Given the description of an element on the screen output the (x, y) to click on. 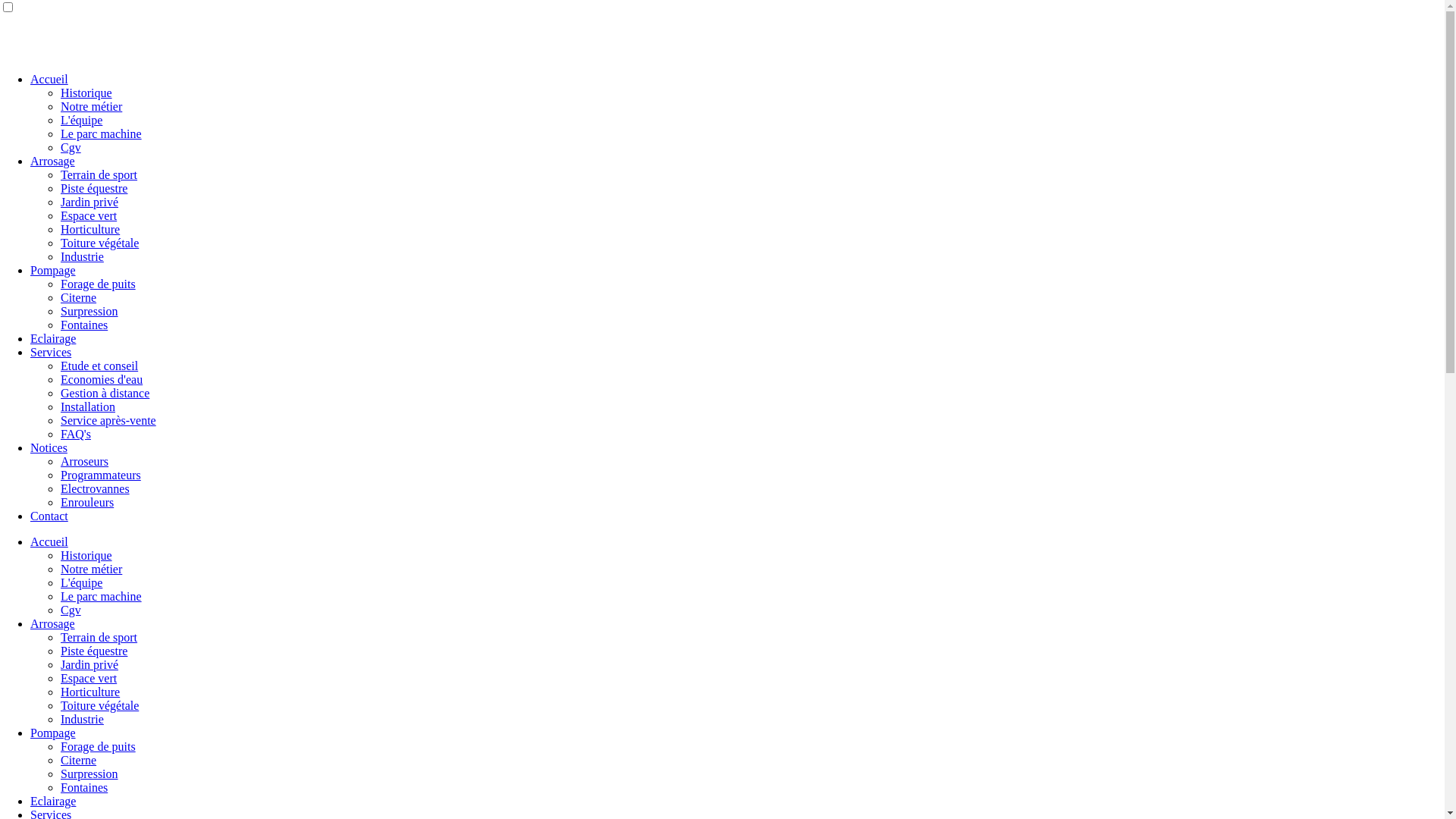
Arrosage Element type: text (52, 623)
Industrie Element type: text (81, 256)
Etude et conseil Element type: text (99, 365)
Eclairage Element type: text (52, 800)
Eclairage Element type: text (52, 338)
Horticulture Element type: text (89, 228)
Industrie Element type: text (81, 718)
Terrain de sport Element type: text (98, 636)
Arrosage Element type: text (52, 160)
Fontaines Element type: text (83, 787)
Services Element type: text (50, 351)
Installation Element type: text (87, 406)
Historique Element type: text (86, 92)
Le parc machine Element type: text (100, 133)
Le parc machine Element type: text (100, 595)
Surpression Element type: text (89, 310)
Programmateurs Element type: text (100, 474)
Historique Element type: text (86, 555)
Fontaines Element type: text (83, 324)
Economies d'eau Element type: text (101, 379)
Cgv Element type: text (70, 609)
Terrain de sport Element type: text (98, 174)
Horticulture Element type: text (89, 691)
Notices Element type: text (48, 447)
Pompage Element type: text (52, 269)
Citerne Element type: text (78, 759)
Contact Element type: text (49, 515)
Forage de puits Element type: text (97, 746)
Citerne Element type: text (78, 297)
Forage de puits Element type: text (97, 283)
Espace vert Element type: text (88, 215)
Espace vert Element type: text (88, 677)
Cgv Element type: text (70, 147)
Electrovannes Element type: text (94, 488)
FAQ's Element type: text (75, 433)
Arroseurs Element type: text (84, 461)
Accueil Element type: text (49, 78)
Accueil Element type: text (49, 541)
Surpression Element type: text (89, 773)
Pompage Element type: text (52, 732)
Enrouleurs Element type: text (86, 501)
